Given the description of an element on the screen output the (x, y) to click on. 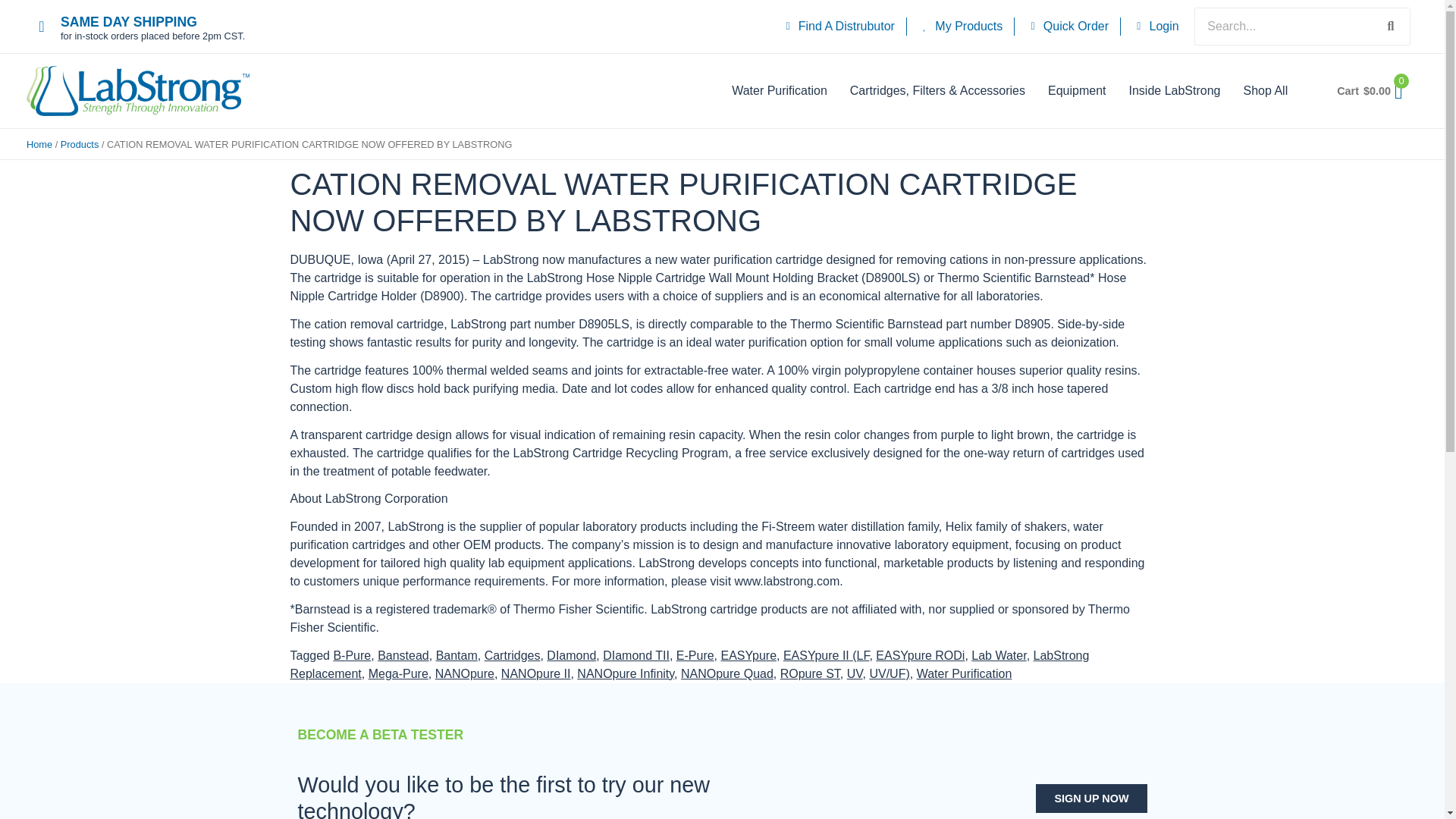
Water Purification (779, 90)
Quick Order (1067, 26)
Inside LabStrong (1173, 90)
Shop All (1264, 90)
Find A Distrubutor (837, 26)
Equipment (1077, 90)
My Products (960, 26)
Login (1155, 26)
